Given the description of an element on the screen output the (x, y) to click on. 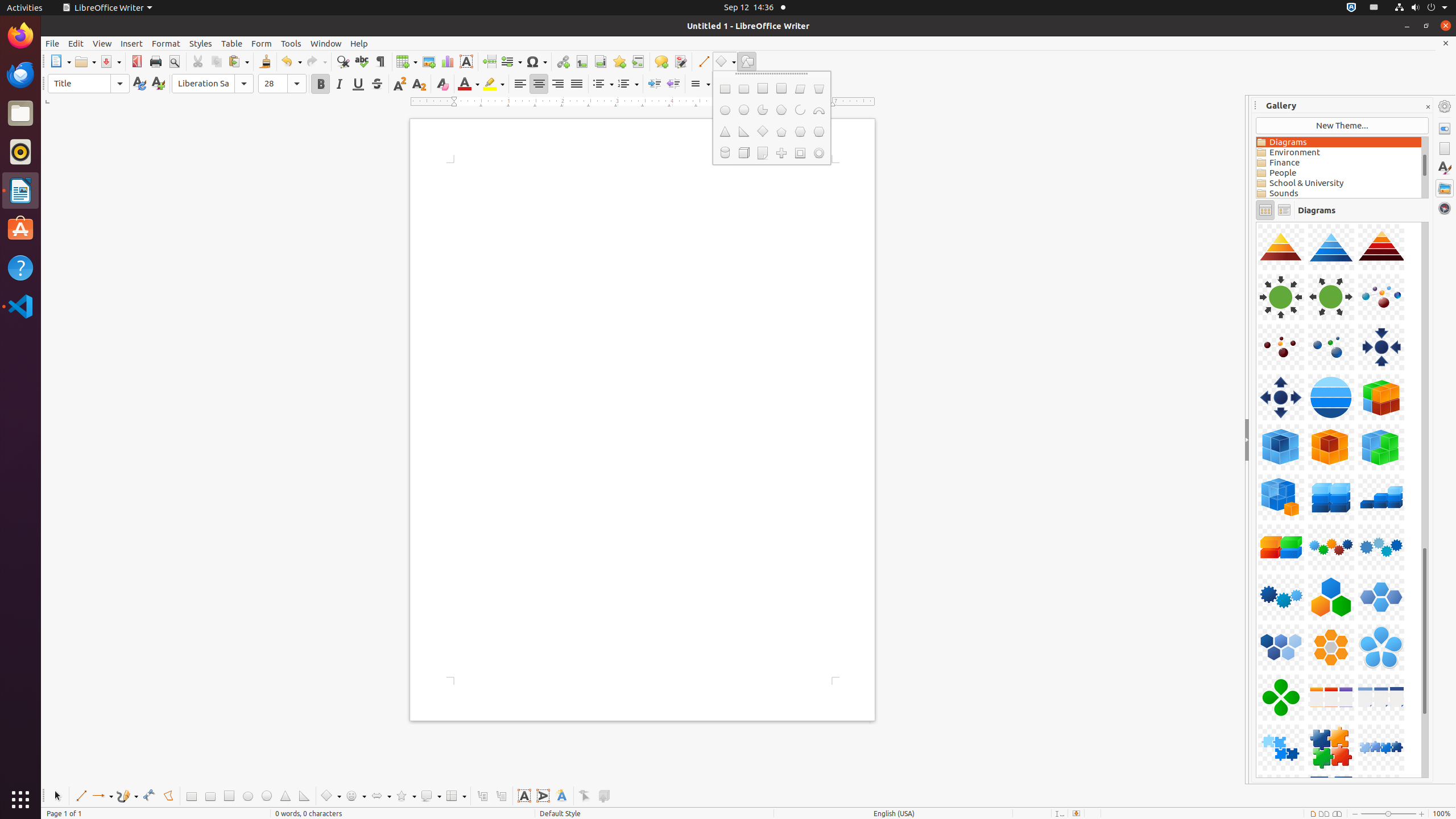
Curve Element type: push-button (148, 795)
Cycle01-Transparent Element type: list-item (1256, 222)
LibreOffice Writer Element type: menu (106, 7)
System Element type: menu (1420, 7)
Component-PuzzlePiece01-DarkBlue Element type: list-item (1256, 222)
